Given the description of an element on the screen output the (x, y) to click on. 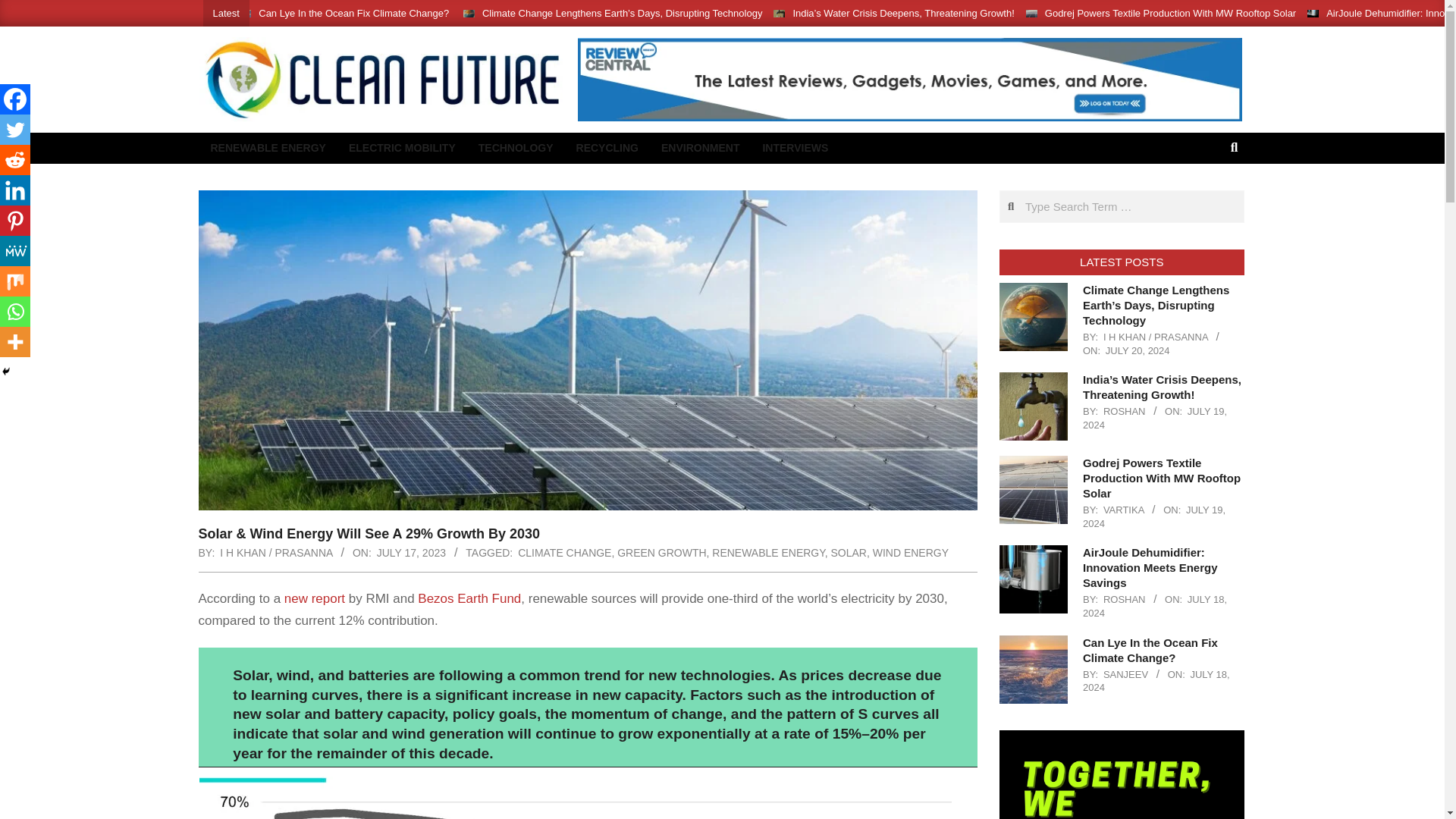
MeWe (15, 250)
Friday, July 19, 2024, 1:59 pm (1154, 516)
Search (24, 9)
CLIMATE CHANGE (564, 552)
Godrej Powers Textile Production With MW Rooftop Solar (1170, 12)
ENVIRONMENT (700, 147)
Monday, July 17, 2023, 12:00 pm (411, 552)
ELECTRIC MOBILITY (402, 147)
Friday, July 19, 2024, 4:33 pm (1155, 417)
RENEWABLE ENERGY (267, 147)
Reddit (15, 159)
More (15, 341)
Linkedin (15, 190)
TECHNOLOGY (515, 147)
INTERVIEWS (795, 147)
